Given the description of an element on the screen output the (x, y) to click on. 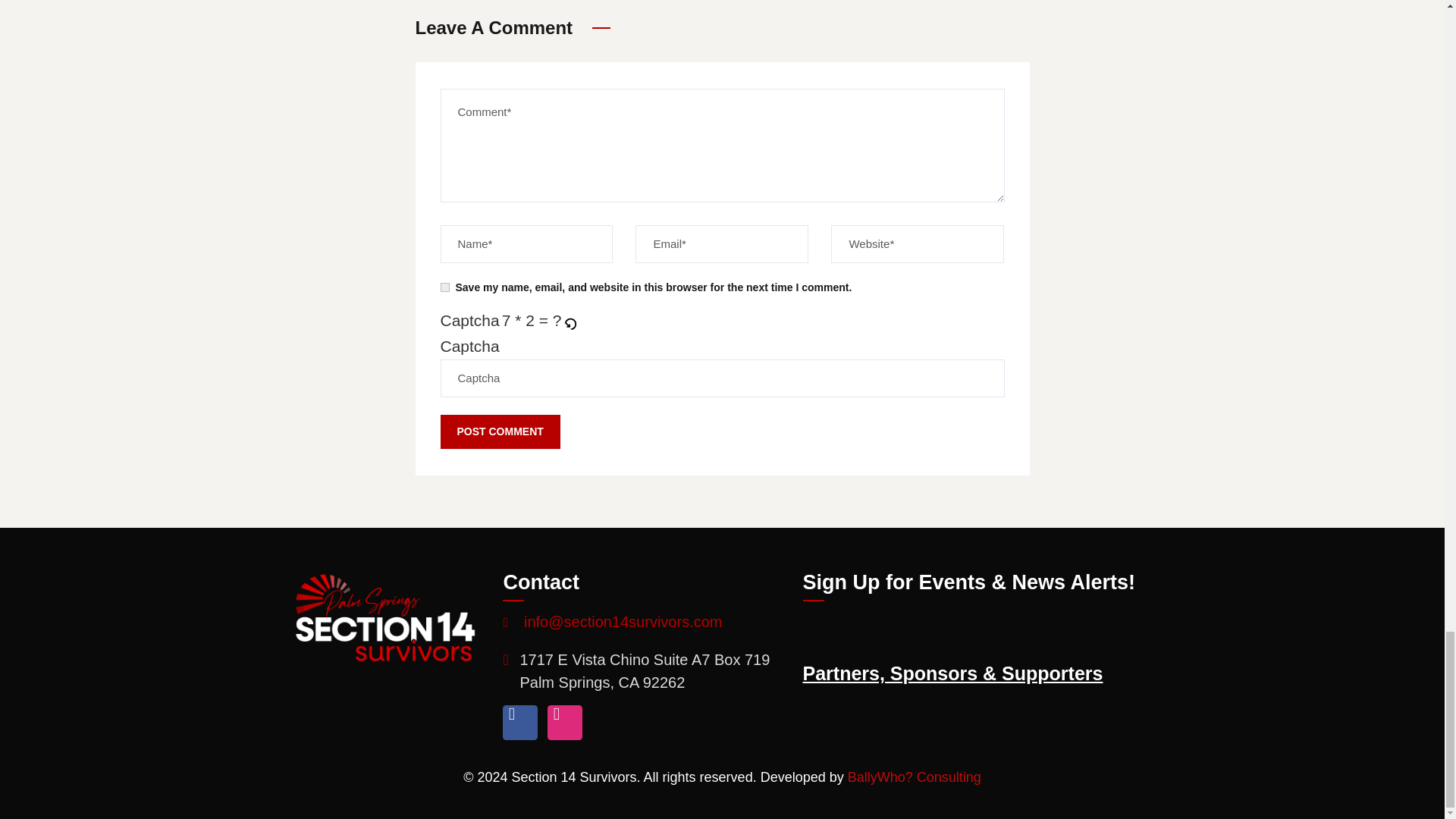
Post Comment (499, 431)
Post Comment (499, 431)
BallyWho? Consulting (914, 776)
